Given the description of an element on the screen output the (x, y) to click on. 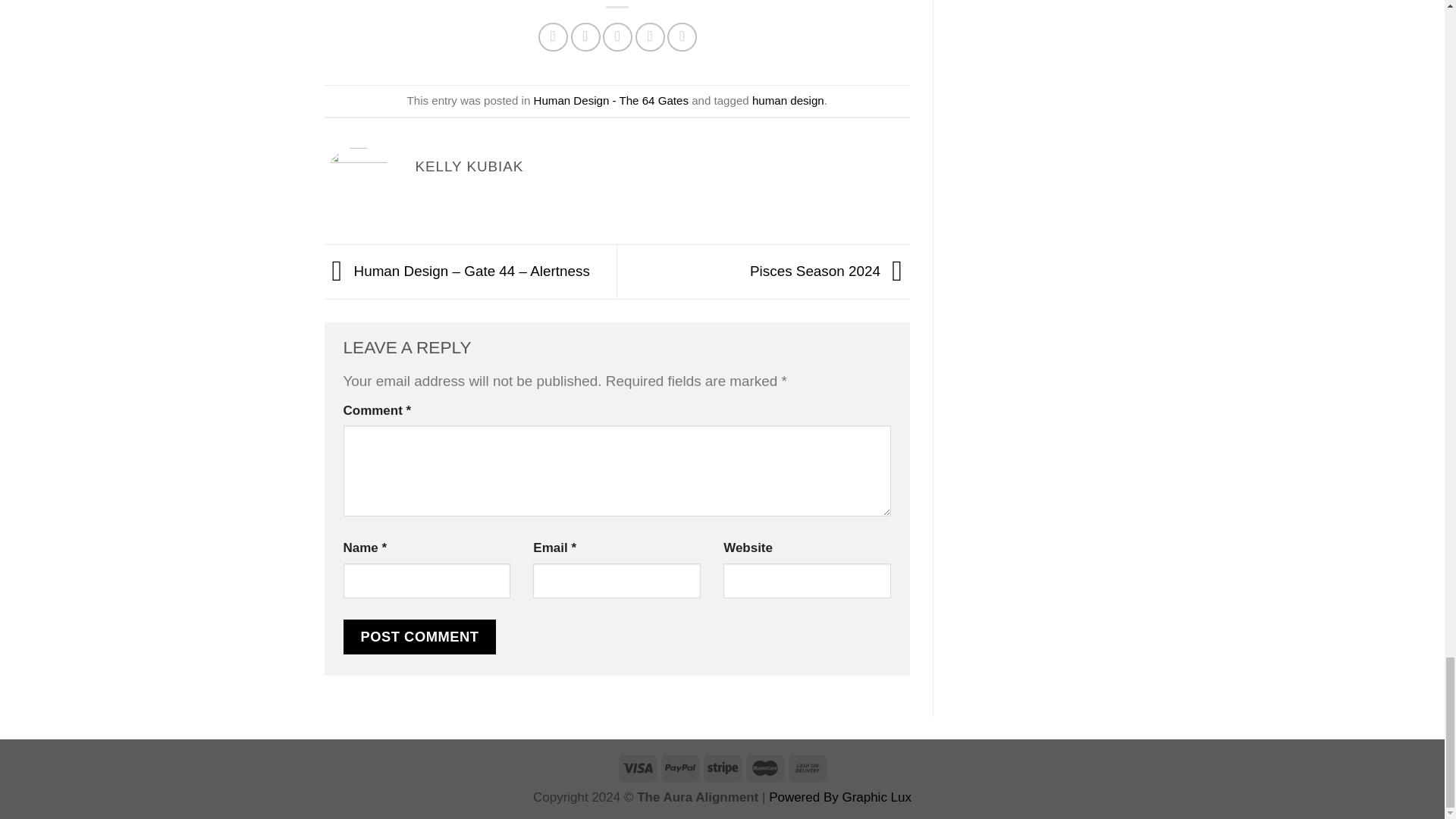
Post Comment (419, 636)
Email to a Friend (616, 37)
Pin on Pinterest (649, 37)
Post Comment (419, 636)
Share on LinkedIn (681, 37)
Human Design - The 64 Gates (611, 100)
Share on Facebook (552, 37)
human design (788, 100)
Pisces Season 2024 (829, 270)
Share on Twitter (584, 37)
